Given the description of an element on the screen output the (x, y) to click on. 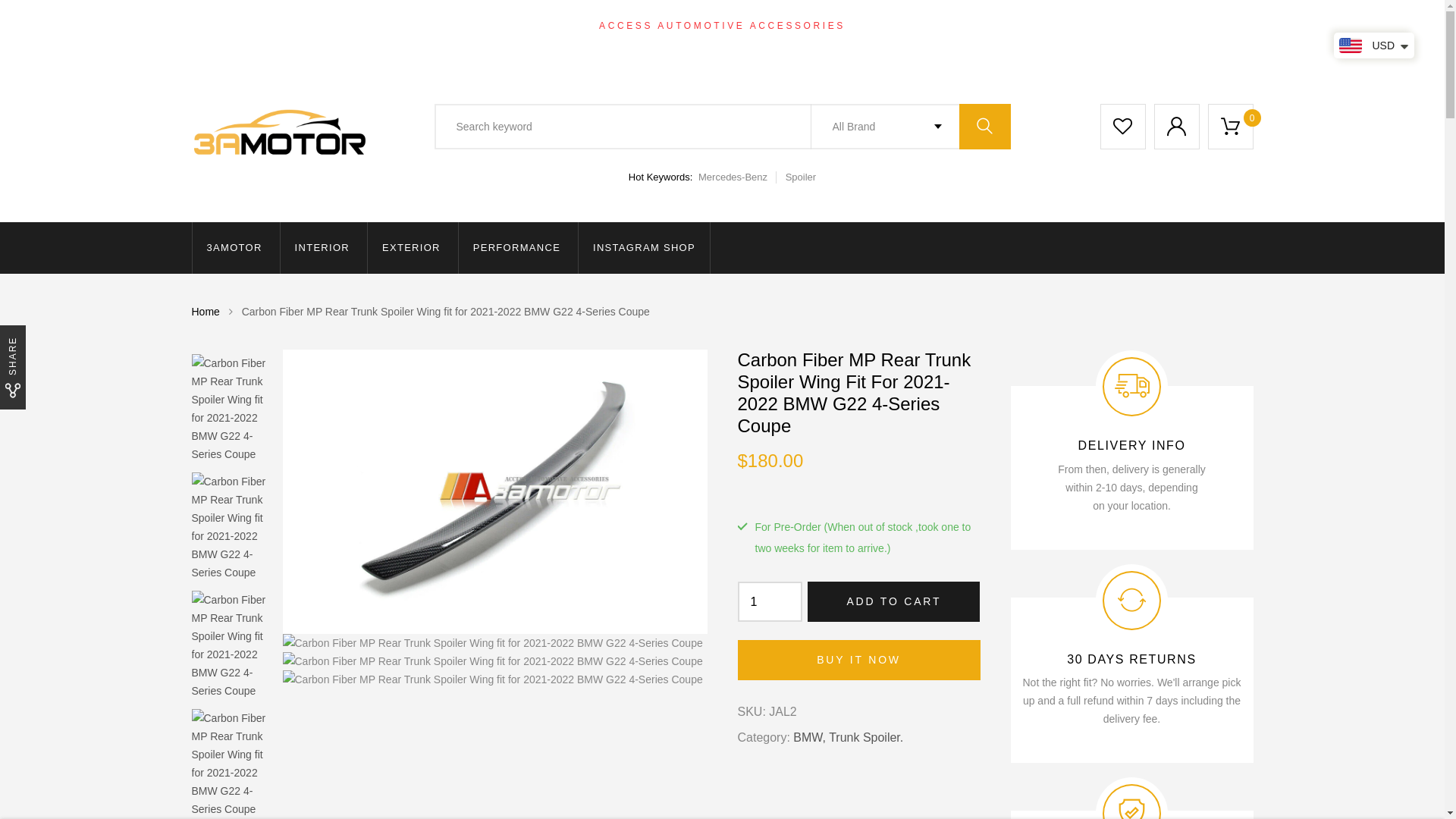
Jeep Element type: text (847, 420)
Scion Element type: text (849, 662)
Audi Element type: text (846, 201)
EXTERIOR Element type: text (411, 247)
Ford Element type: text (846, 322)
Cadillac Element type: text (855, 274)
Scion Element type: text (849, 638)
Hyundai Element type: text (856, 371)
BMW Element type: text (848, 250)
Volkswagen Element type: text (866, 808)
Trunk Spoiler. Element type: text (865, 737)
ADD TO CART Element type: text (893, 601)
Maserati Element type: text (857, 492)
Porsche Element type: text (856, 614)
Suzuki Element type: text (852, 735)
3AMOTOR Element type: text (233, 247)
Acura Element type: text (850, 177)
All Brand Element type: text (884, 126)
Lexus Element type: text (850, 444)
Infiniti Element type: text (850, 395)
0 Element type: text (1229, 126)
Spoiler Element type: text (800, 177)
Tesla Element type: text (848, 759)
Lotus Element type: text (848, 468)
Honda Element type: text (851, 347)
BMW, Element type: text (809, 737)
ACCESS AUTOMOTIVE ACCESSORIES Element type: text (722, 25)
Citroen Element type: text (853, 298)
Nissan Element type: text (852, 589)
Subaru Element type: text (853, 711)
Mercedes-Benz Element type: text (736, 177)
Qty Element type: hover (769, 601)
Mazda Element type: text (852, 565)
Toyota Element type: text (851, 784)
INSTAGRAM SHOP Element type: text (644, 247)
INTERIOR Element type: text (322, 247)
BUY IT NOW Element type: text (858, 660)
Mini Element type: text (845, 517)
Mitsubishi Element type: text (861, 541)
Skoda Element type: text (851, 686)
Benz Element type: text (847, 225)
PERFORMANCE Element type: text (516, 247)
Home Element type: text (205, 311)
